Given the description of an element on the screen output the (x, y) to click on. 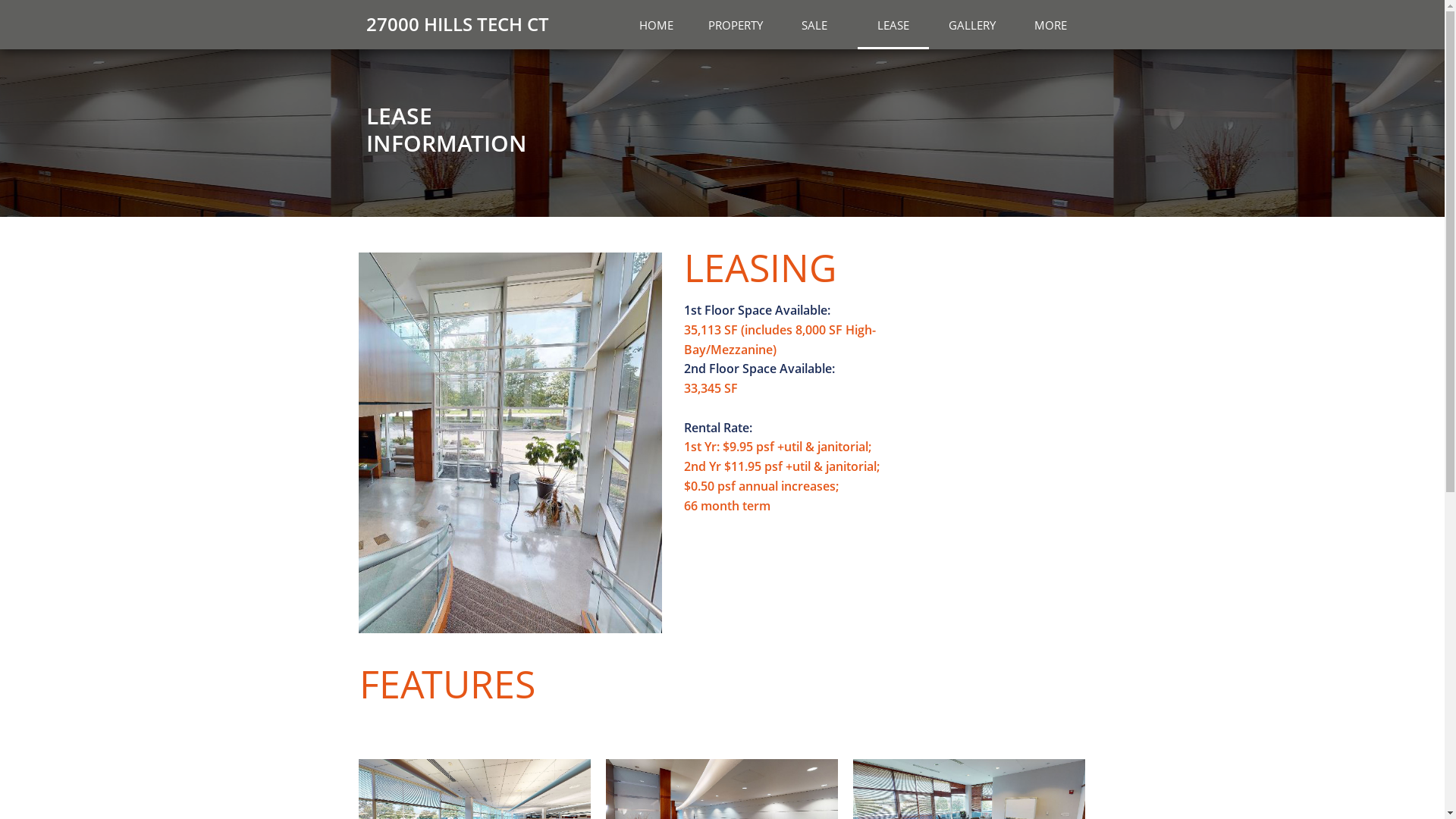
SALE Element type: text (813, 24)
PROPERTY Element type: text (734, 24)
GALLERY Element type: text (971, 24)
HOME Element type: text (655, 24)
LEASE Element type: text (892, 24)
